Given the description of an element on the screen output the (x, y) to click on. 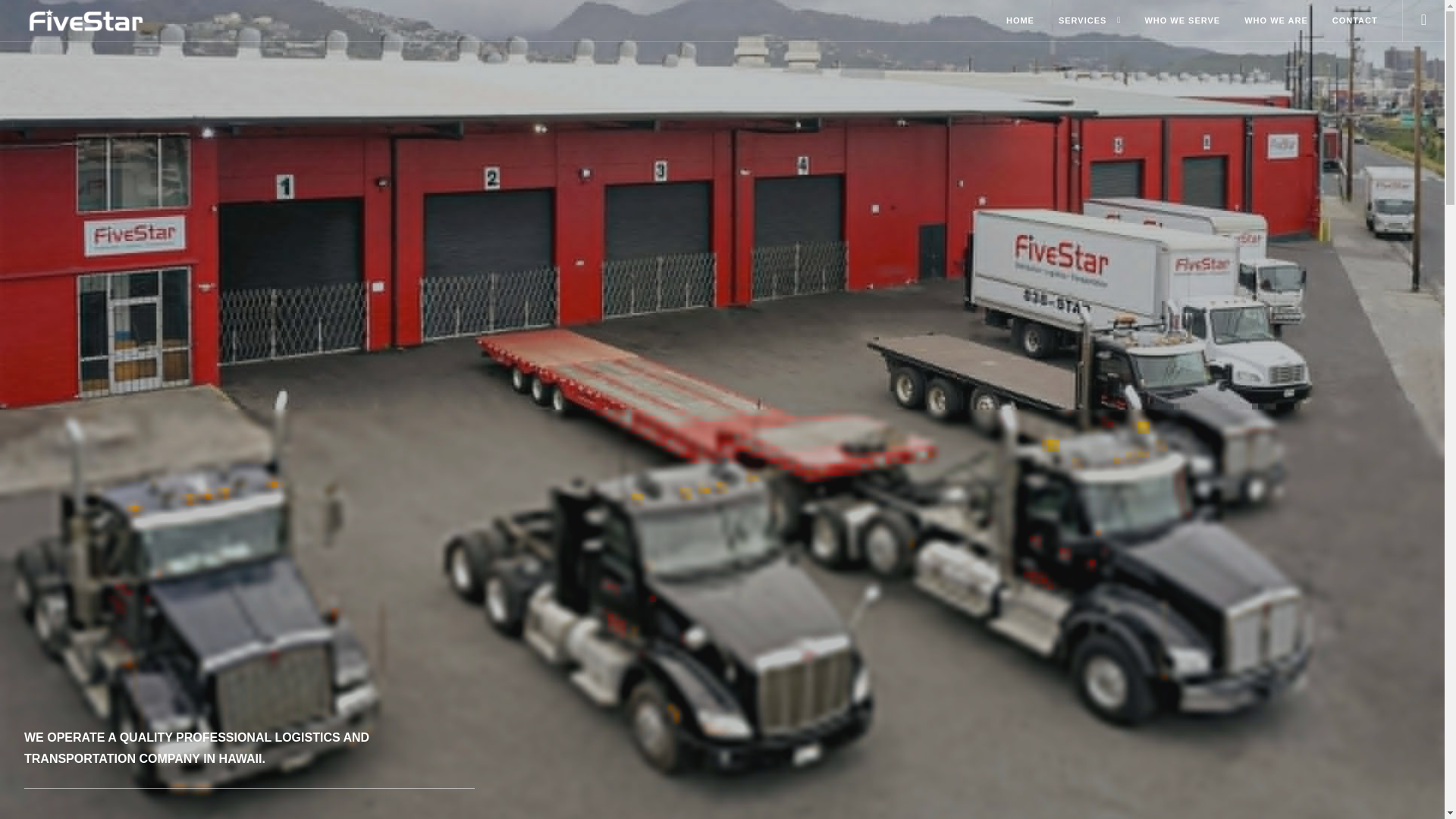
WHO WE SERVE (1182, 21)
SERVICES (1082, 21)
WHO WE ARE (1275, 21)
CONTACT (1354, 21)
